Given the description of an element on the screen output the (x, y) to click on. 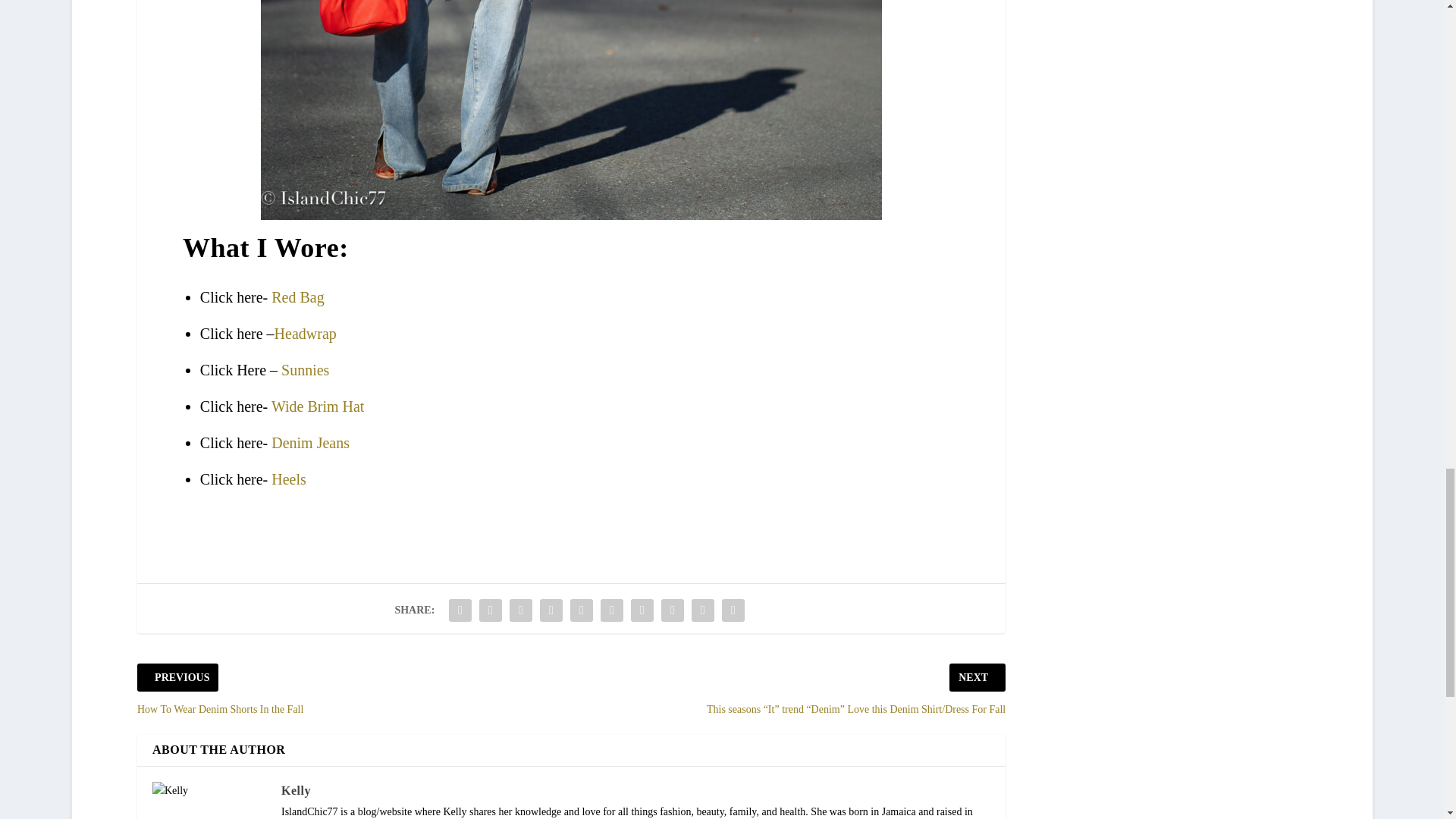
Sunnies (305, 369)
Headwrap (305, 333)
Wide Brim Hat (317, 406)
Heels (287, 478)
Wide Brim Hat (317, 406)
Denim Jeans (309, 442)
Red Bag (296, 297)
Headwrap (305, 333)
Sunnies (305, 369)
Red Bag (296, 297)
Heels (287, 478)
Denim Jeans (309, 442)
